Given the description of an element on the screen output the (x, y) to click on. 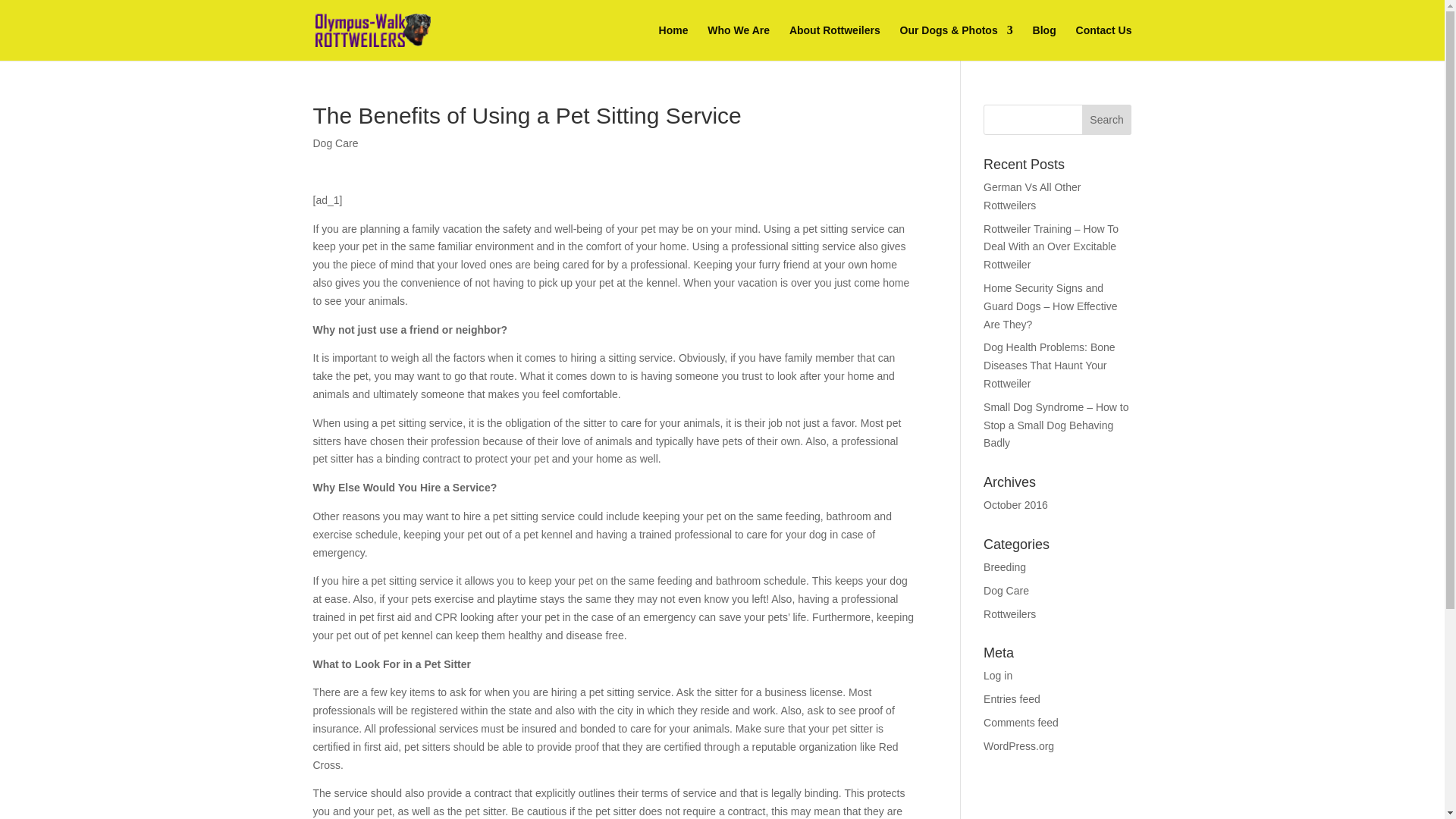
Rottweilers (1009, 613)
WordPress.org (1019, 746)
Log in (997, 675)
Search (1106, 119)
October 2016 (1016, 504)
Comments feed (1021, 722)
About Rottweilers (834, 42)
Dog Care (1006, 590)
Entries feed (1012, 698)
Dog Care (335, 143)
Who We Are (738, 42)
Contact Us (1103, 42)
Search (1106, 119)
Breeding (1005, 567)
